Given the description of an element on the screen output the (x, y) to click on. 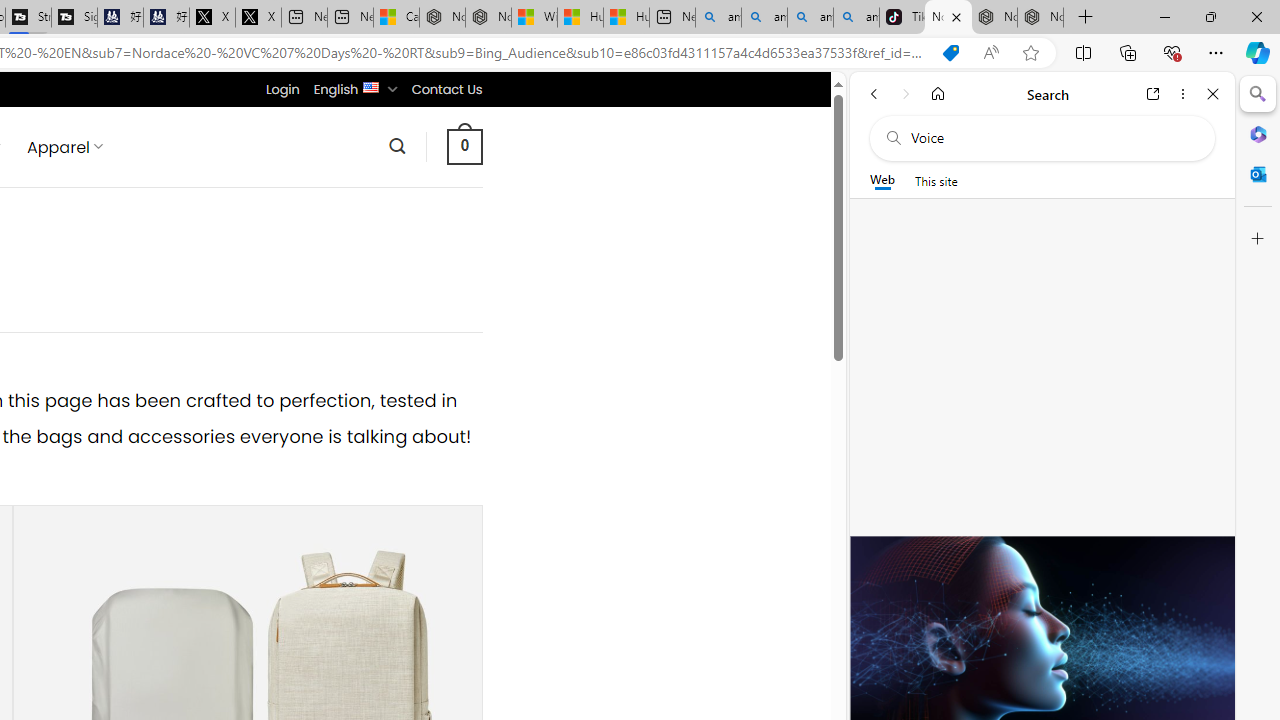
English (371, 86)
Search the web (1051, 137)
Nordace - Siena Pro 15 Essential Set (1040, 17)
This site has coupons! Shopping in Microsoft Edge (950, 53)
TikTok (902, 17)
